Given the description of an element on the screen output the (x, y) to click on. 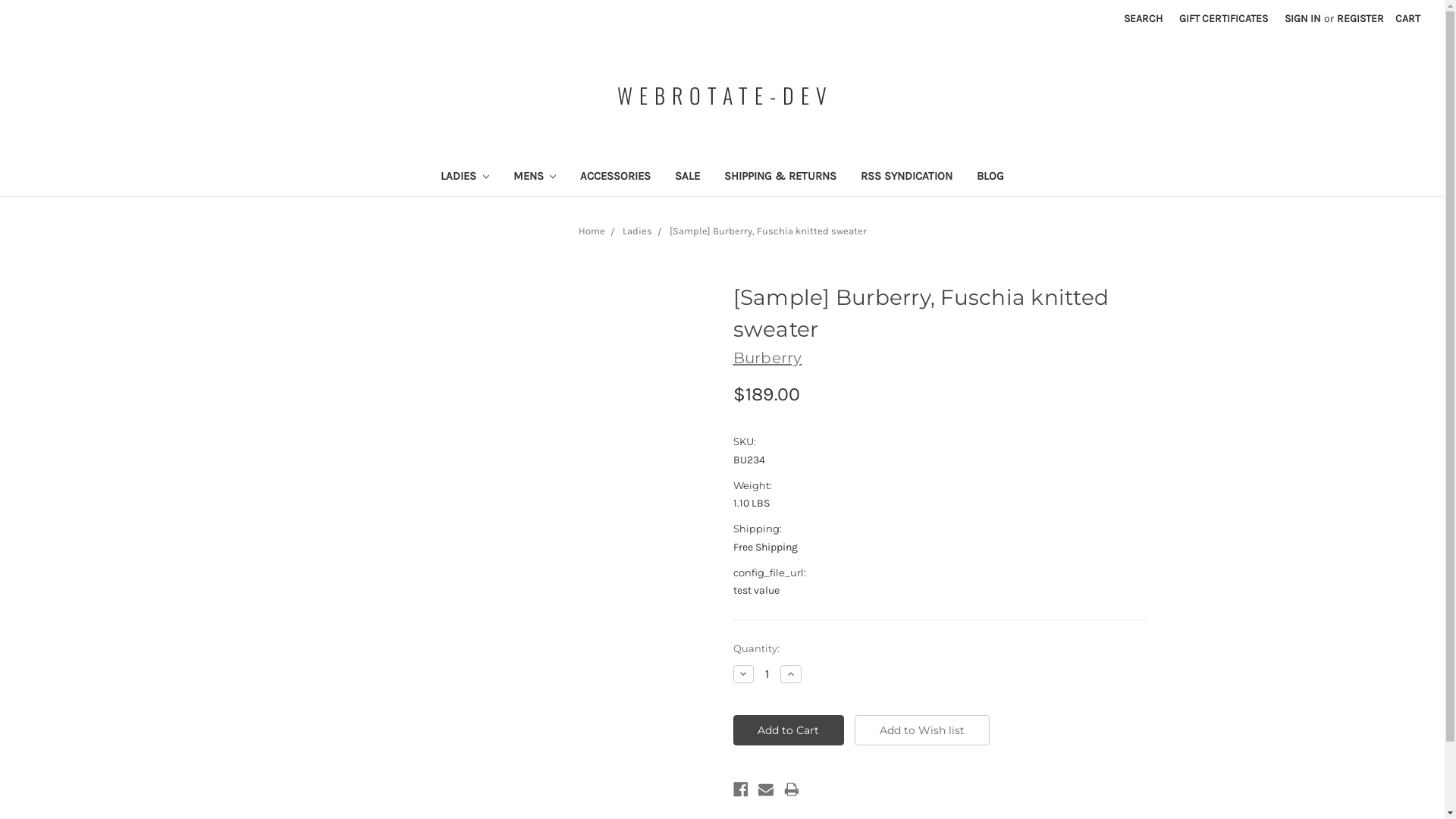
SALE Element type: text (687, 177)
REGISTER Element type: text (1360, 18)
LADIES Element type: text (464, 177)
Add to Wish list Element type: text (921, 730)
Decrease Quantity: Element type: text (742, 674)
SEARCH Element type: text (1142, 18)
RSS SYNDICATION Element type: text (906, 177)
Increase Quantity: Element type: text (790, 674)
MENS Element type: text (533, 177)
Home Element type: text (590, 230)
ACCESSORIES Element type: text (614, 177)
[Sample] Burberry, Fuschia knitted sweater Element type: text (767, 230)
Ladies Element type: text (636, 230)
Burberry Element type: text (766, 357)
Add to Cart Element type: text (788, 730)
SHIPPING & RETURNS Element type: text (780, 177)
SIGN IN Element type: text (1302, 18)
BLOG Element type: text (990, 177)
GIFT CERTIFICATES Element type: text (1223, 18)
CART Element type: text (1407, 18)
